Given the description of an element on the screen output the (x, y) to click on. 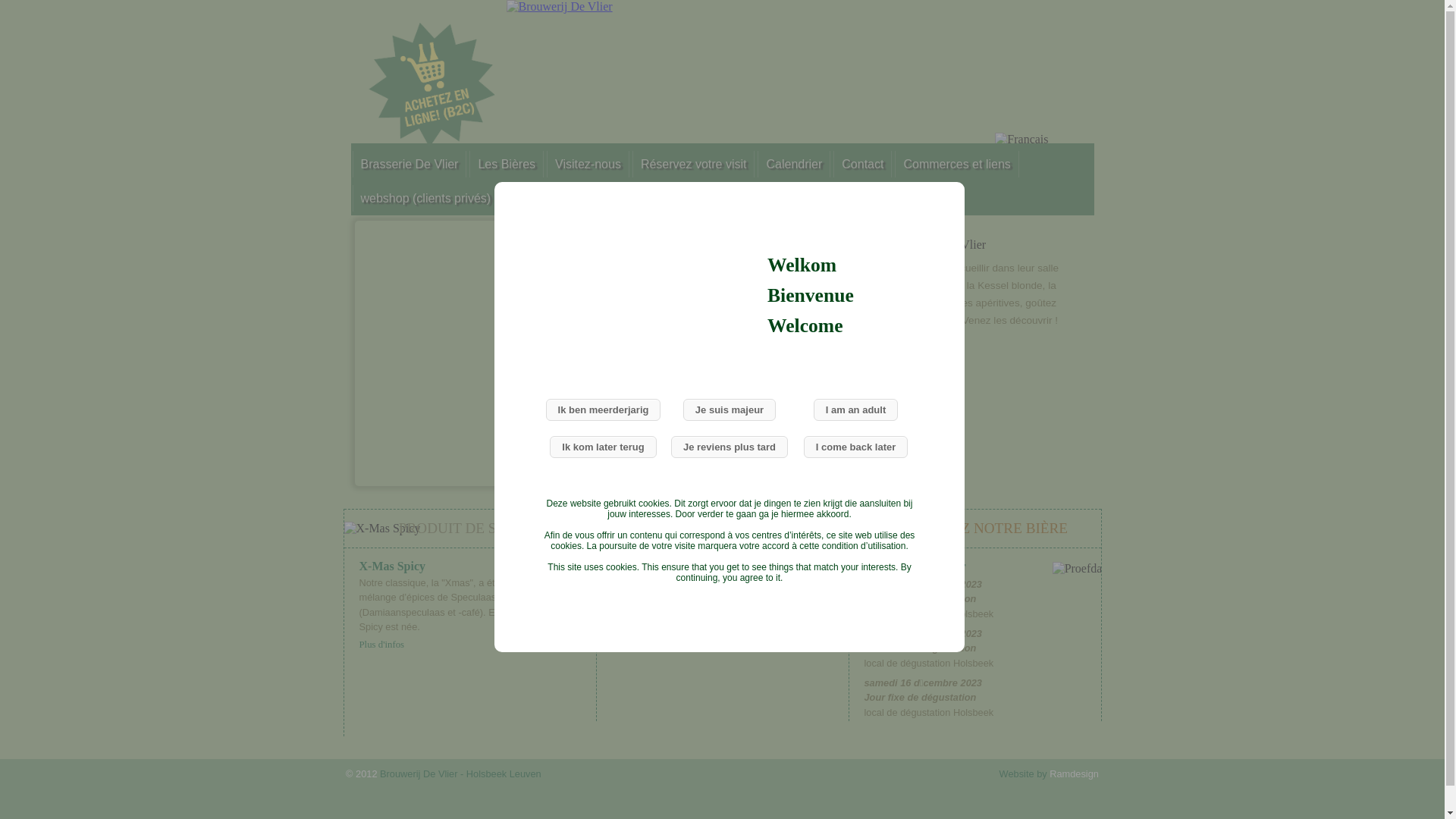
Contact Element type: text (862, 163)
I come back later Element type: text (855, 447)
Ik ben meerderjarig Element type: text (603, 409)
PRODUIT DE SAISON Element type: text (470, 528)
Commerces et liens Element type: text (956, 163)
Brasserie De Vlier Element type: text (408, 163)
Visitez-nous Element type: text (587, 163)
Ik kom later terug Element type: text (602, 447)
Je suis majeur Element type: text (729, 409)
I am an adult Element type: text (855, 409)
Plus d'infos Element type: text (469, 644)
Je reviens plus tard Element type: text (729, 447)
Calendrier Element type: text (793, 163)
Ramdesign Element type: text (1073, 773)
